Given the description of an element on the screen output the (x, y) to click on. 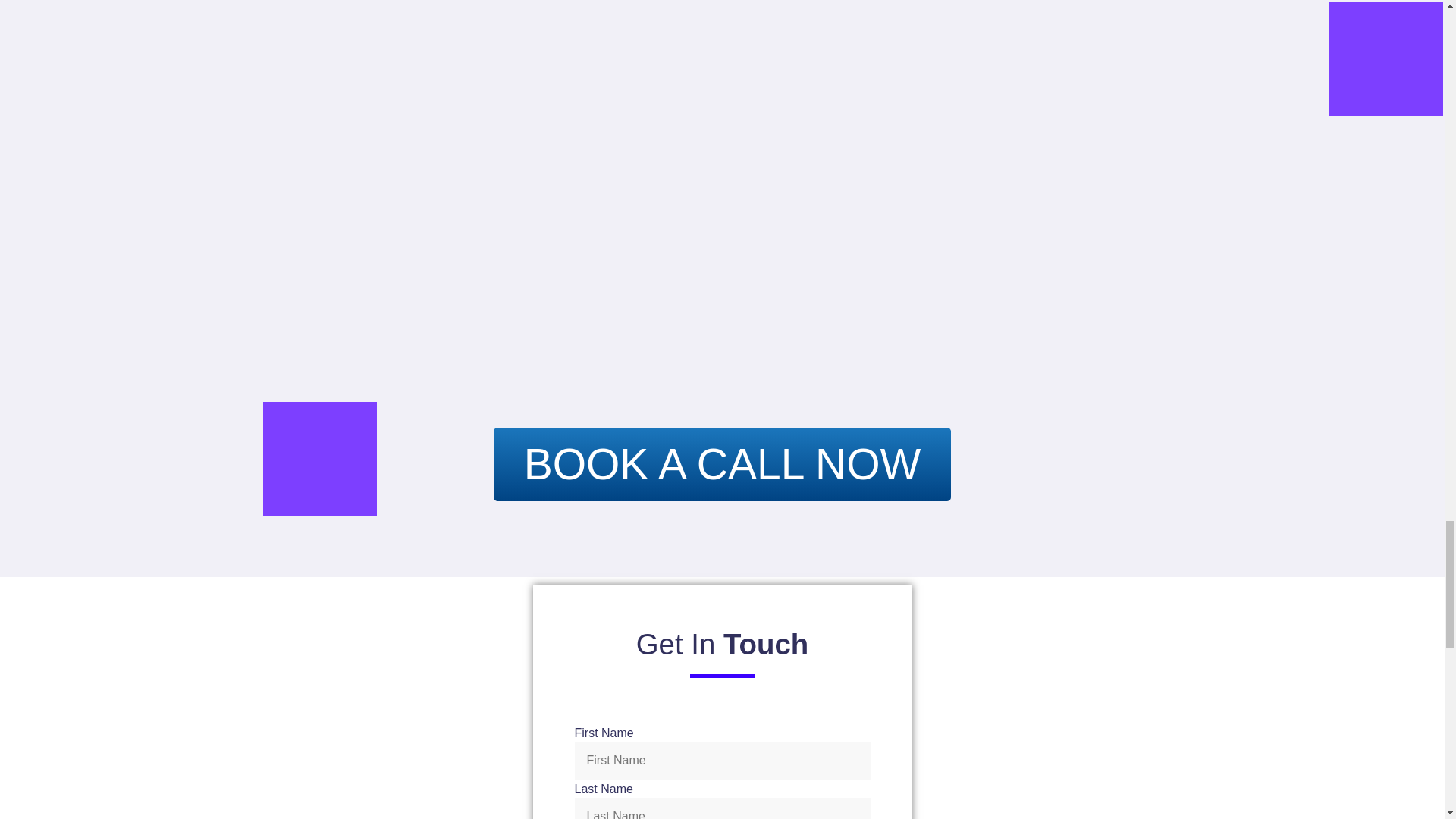
BOOK A CALL NOW (722, 464)
